Given the description of an element on the screen output the (x, y) to click on. 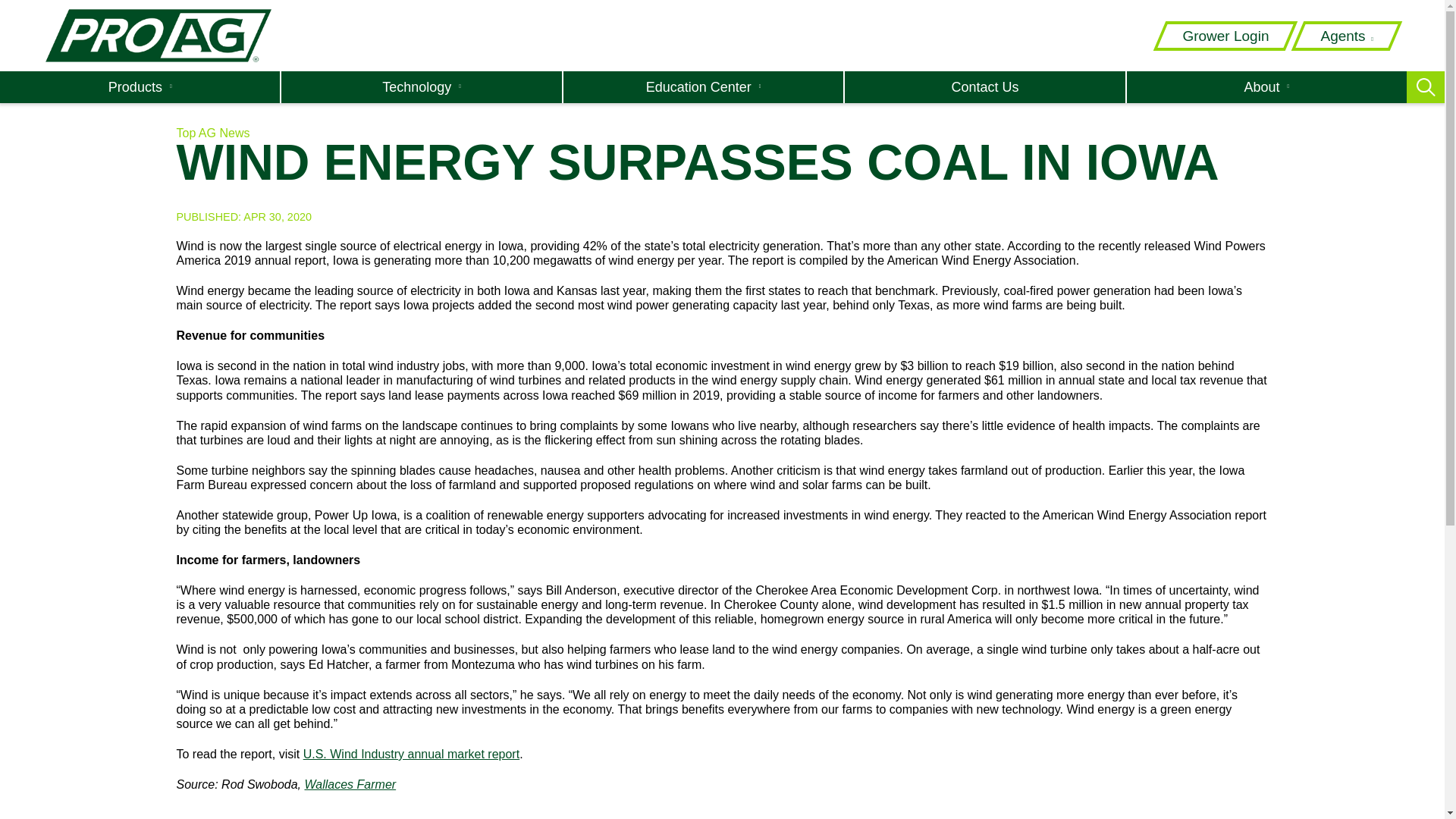
Agents (1346, 36)
Search (1010, 78)
Search (1010, 78)
Grower Login (1225, 36)
Products (139, 87)
